Given the description of an element on the screen output the (x, y) to click on. 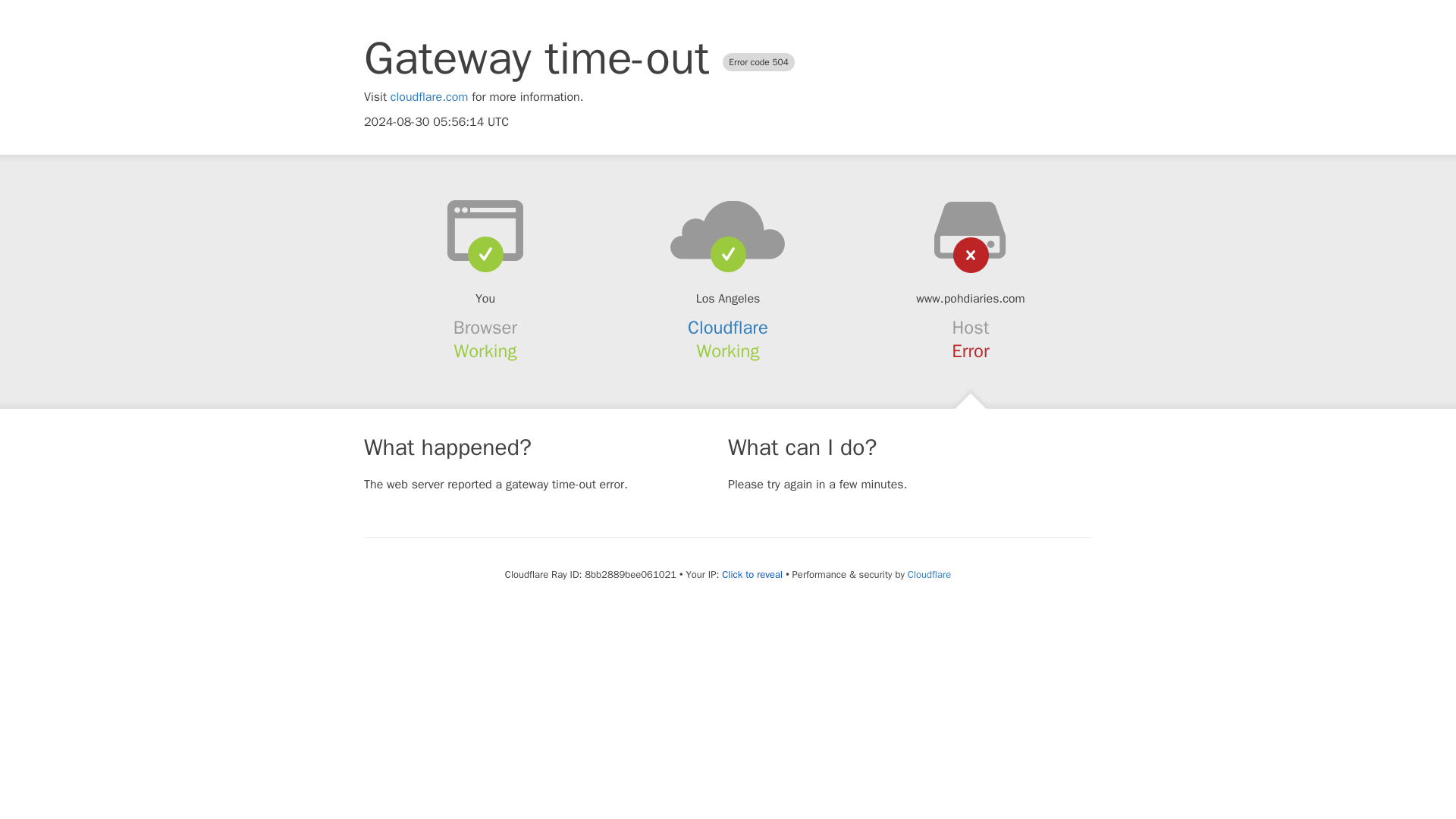
cloudflare.com (429, 96)
Cloudflare (928, 574)
Cloudflare (727, 327)
Click to reveal (752, 574)
